Given the description of an element on the screen output the (x, y) to click on. 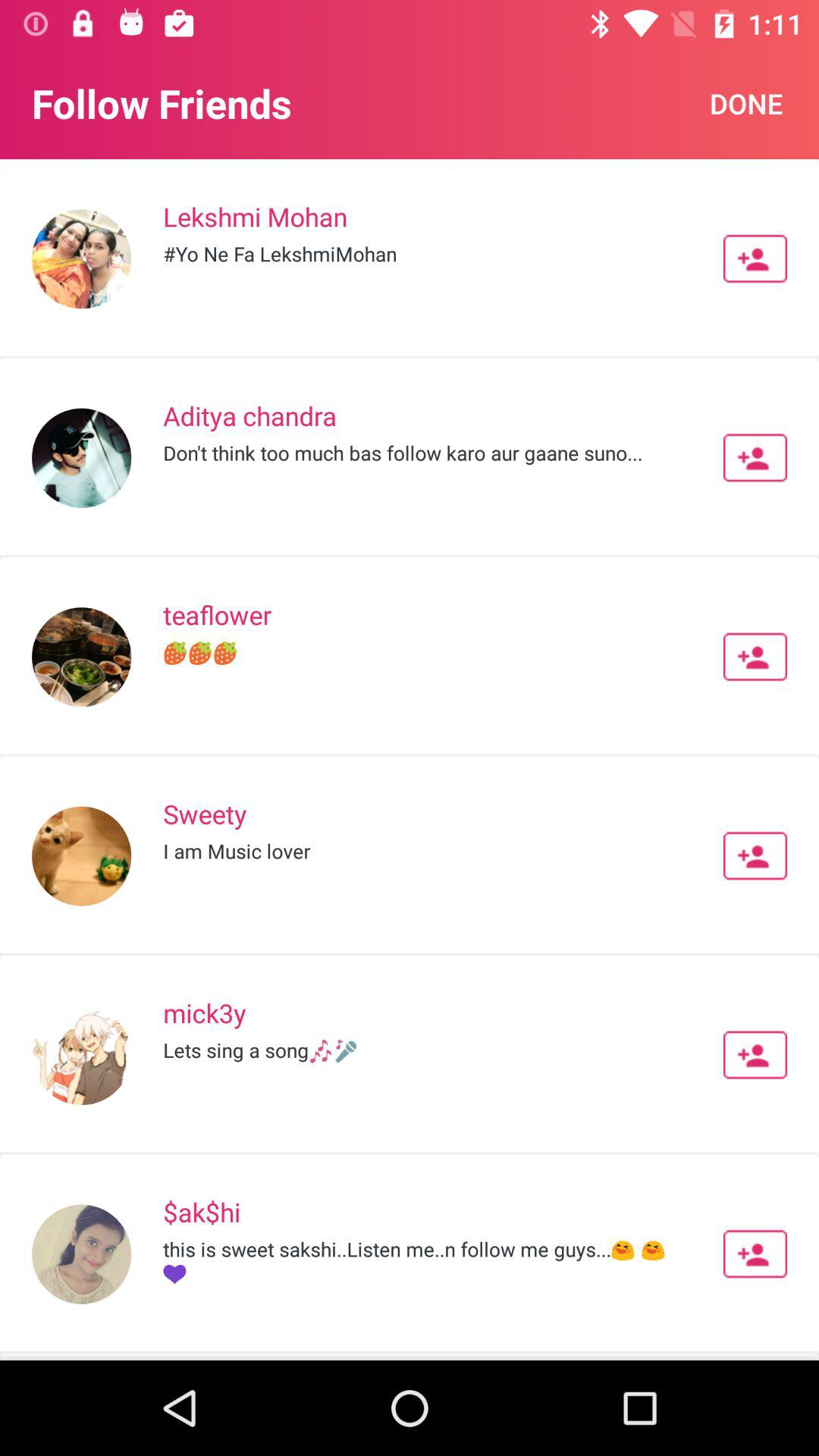
select item above the lekshmi mohan (746, 103)
